Given the description of an element on the screen output the (x, y) to click on. 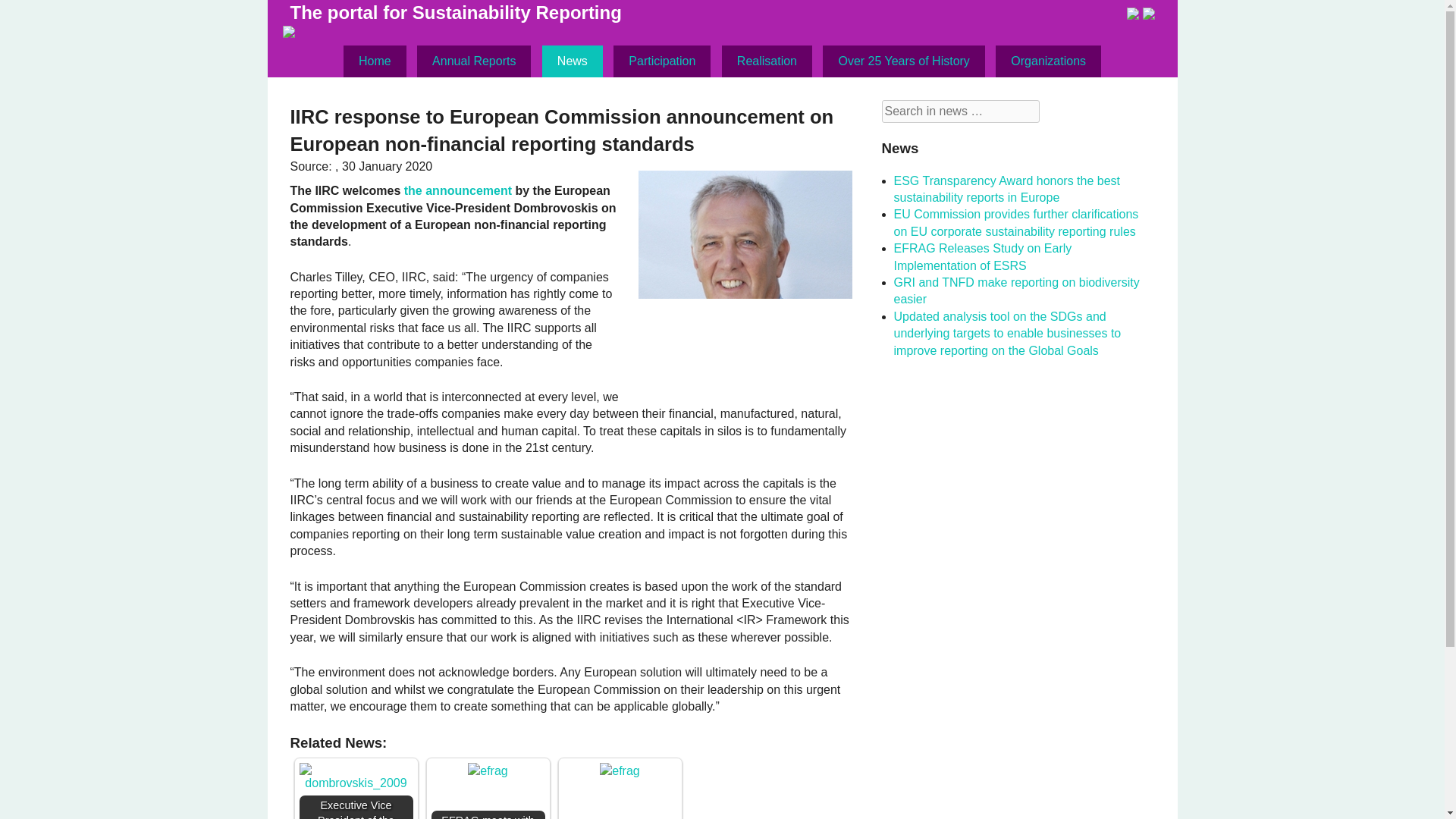
RSS feed Verslagen (1132, 15)
the announcement (458, 190)
EFRAG welcomes next step towards the first set of ESRS (619, 770)
Annual Reports (473, 60)
EFRAG Releases Study on Early Implementation of ESRS (982, 256)
Participation (661, 60)
Twitter (1147, 15)
Organizations (1047, 60)
